Given the description of an element on the screen output the (x, y) to click on. 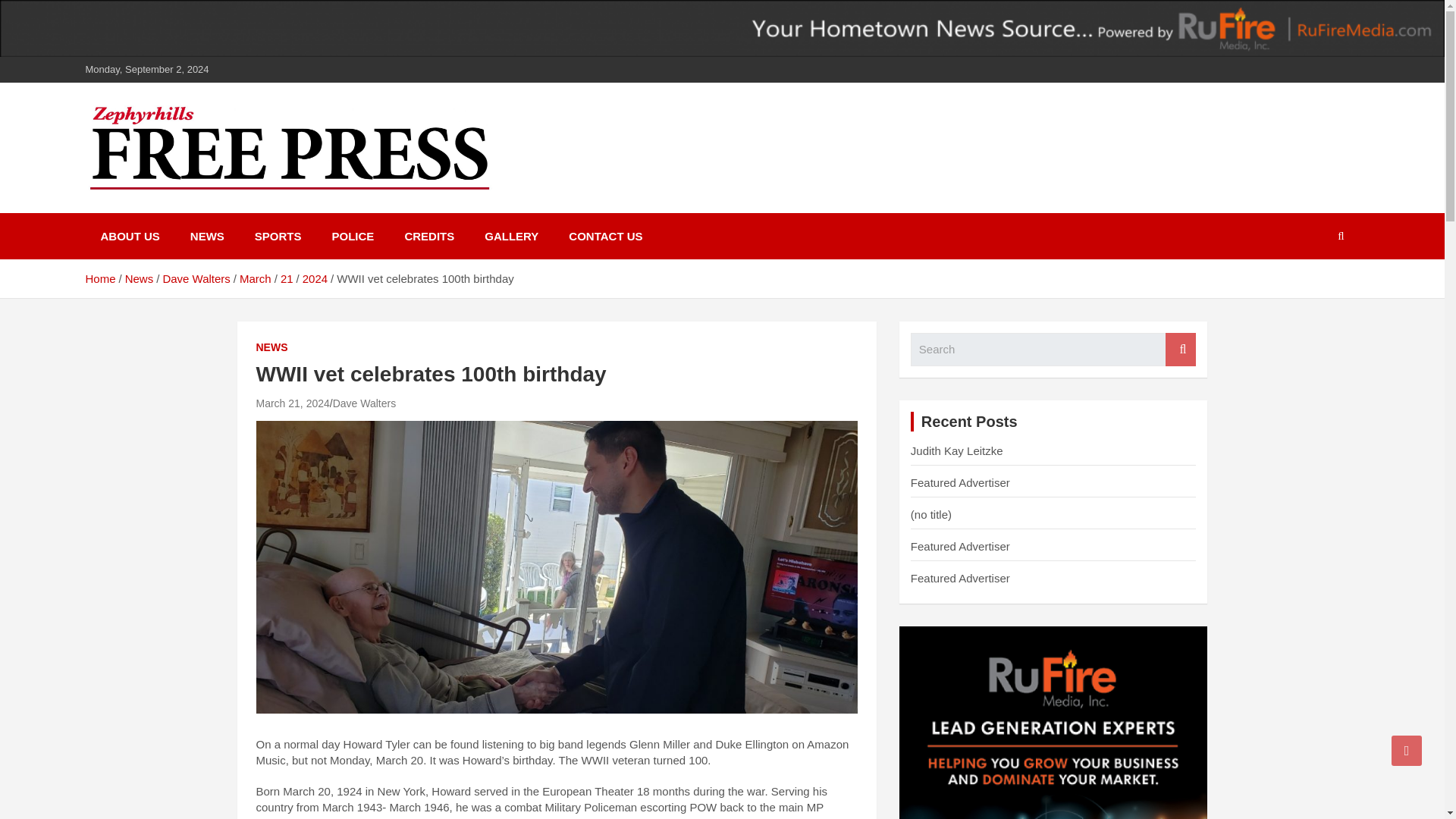
March 21, 2024 (293, 403)
Featured Advertiser (960, 577)
Judith Kay Leitzke (957, 450)
POLICE (353, 235)
Home (99, 278)
GALLERY (510, 235)
Dave Walters (195, 278)
Go to Top (1406, 750)
NEWS (272, 347)
Featured Advertiser (960, 481)
